Given the description of an element on the screen output the (x, y) to click on. 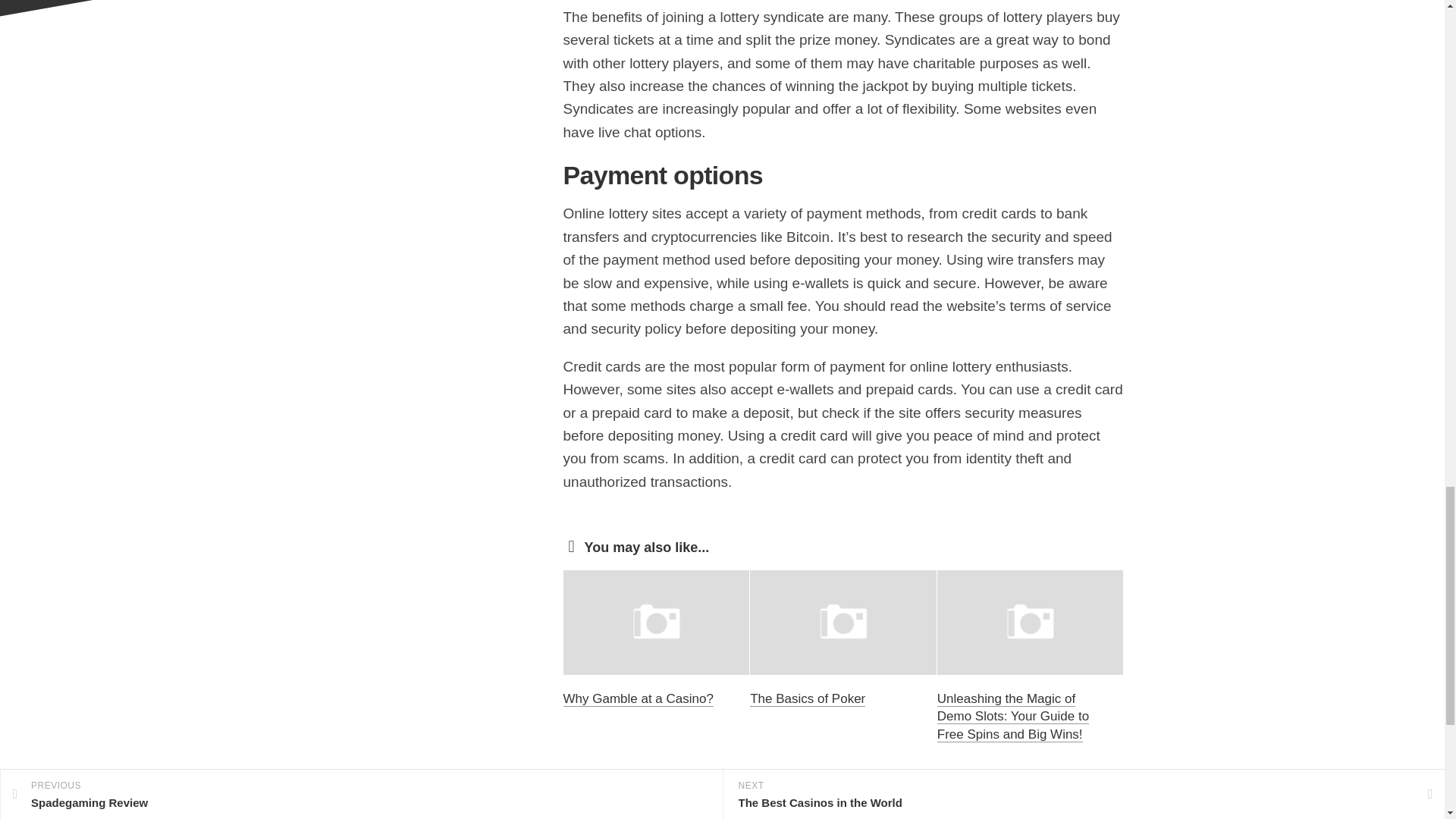
The Basics of Poker (806, 698)
Why Gamble at a Casino? (637, 698)
